Given the description of an element on the screen output the (x, y) to click on. 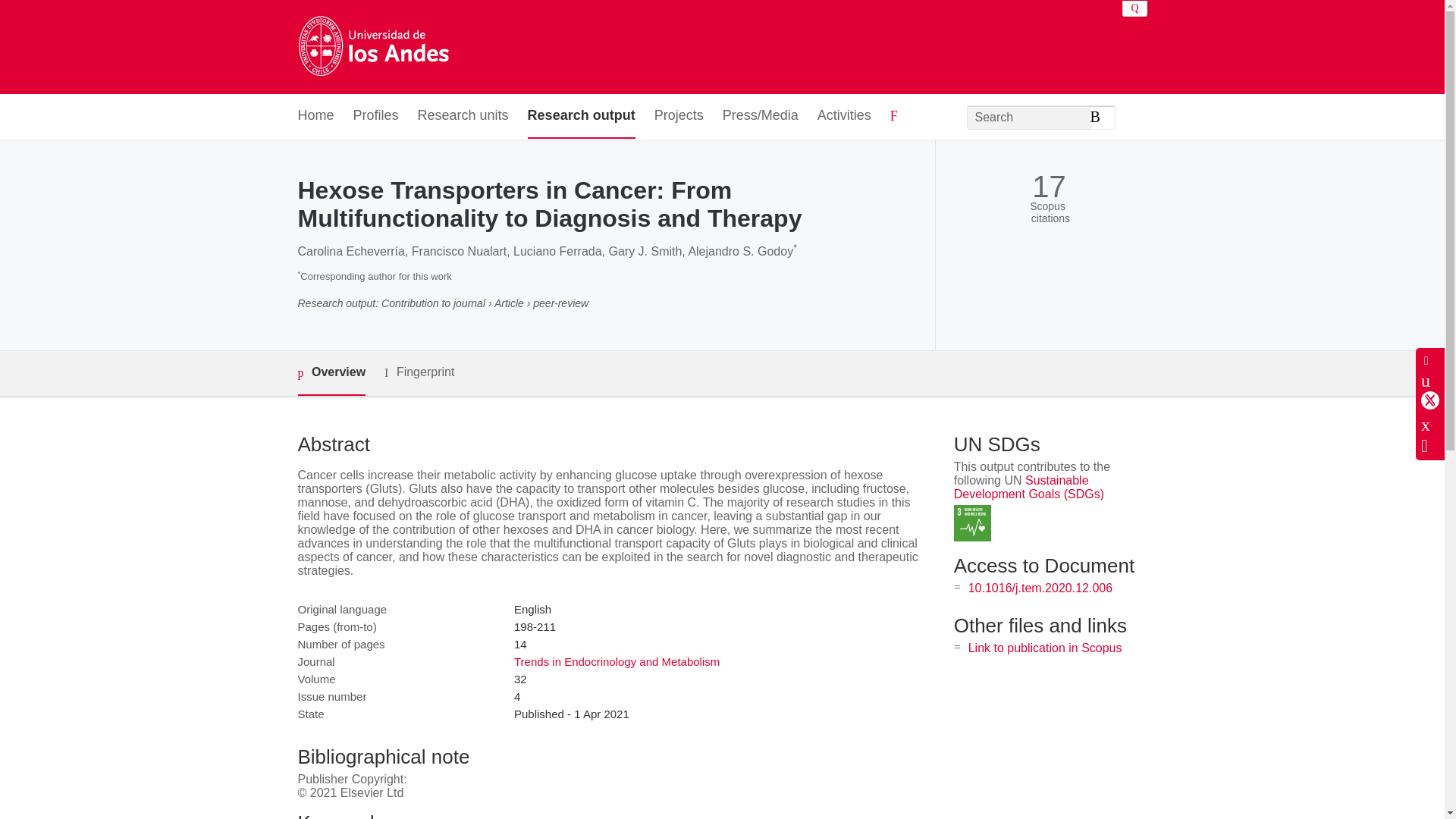
Profiles (375, 116)
SDG 3 - Good Health and Well-being (972, 523)
Overview (331, 373)
Fingerprint (419, 372)
Link to publication in Scopus (1045, 647)
Research output (580, 116)
Trends in Endocrinology and Metabolism (616, 661)
Projects (678, 116)
Research units (462, 116)
